Given the description of an element on the screen output the (x, y) to click on. 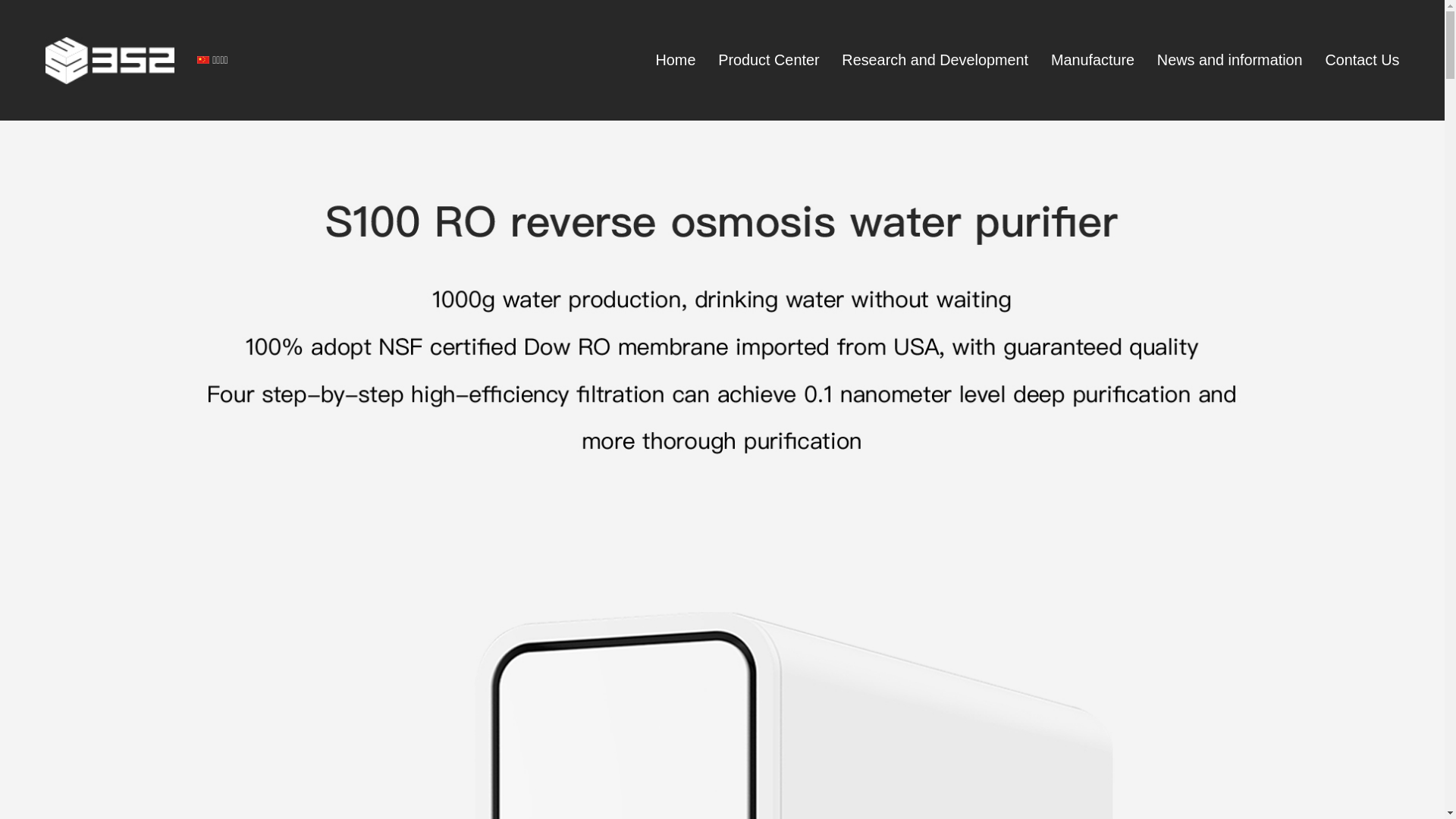
Research and Development Element type: text (934, 60)
Home Element type: text (675, 60)
Product Center Element type: text (768, 60)
News and information Element type: text (1229, 60)
Manufacture Element type: text (1092, 60)
Contact Us Element type: text (1361, 60)
